Given the description of an element on the screen output the (x, y) to click on. 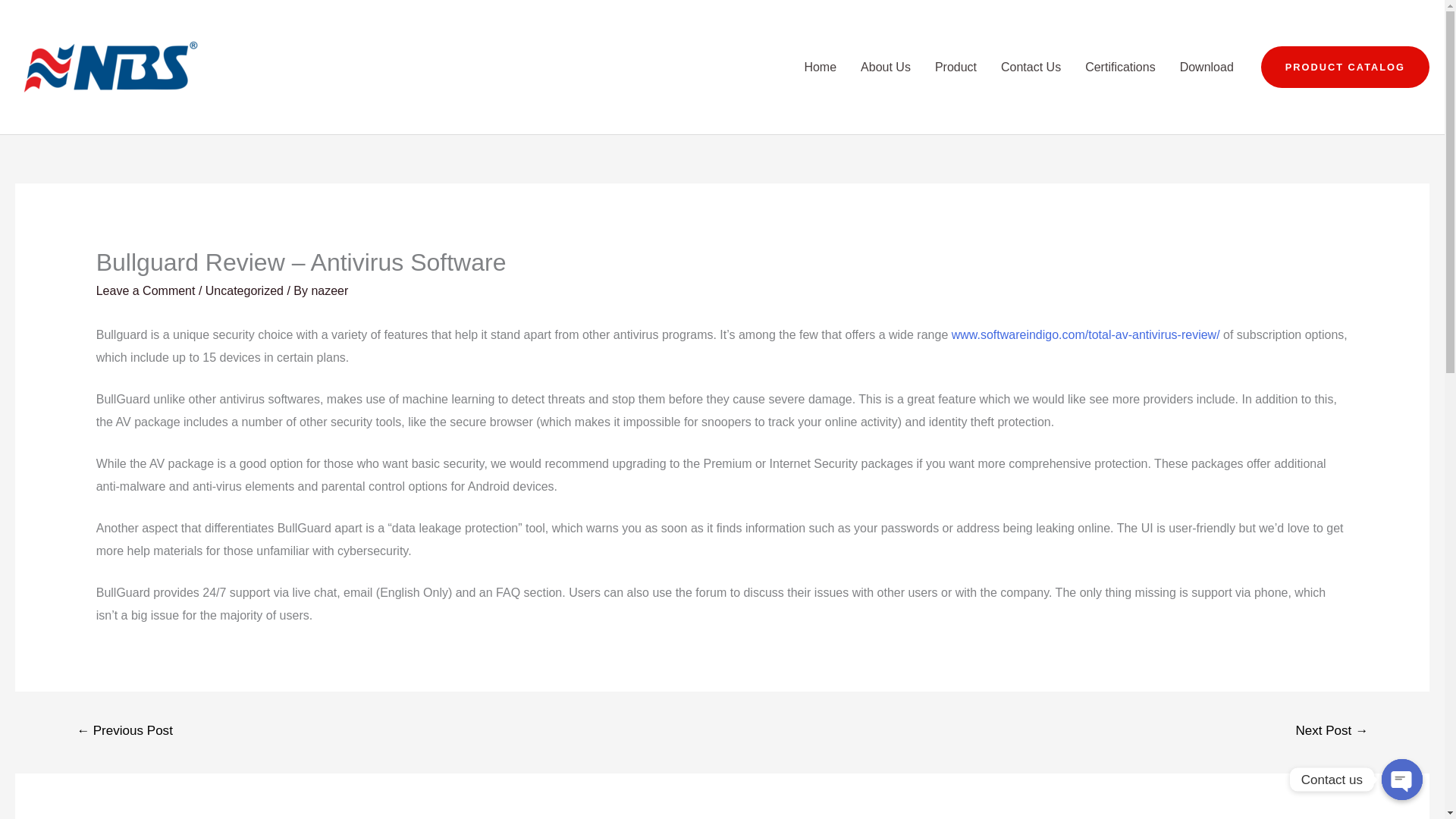
About Us (885, 67)
Contact Us (1030, 67)
PRODUCT CATALOG (1344, 66)
Home (820, 67)
Certifications (1120, 67)
View all posts by nazeer (329, 290)
nazeer (329, 290)
Download (1206, 67)
Leave a Comment (145, 290)
Product (955, 67)
Uncategorized (244, 290)
